Given the description of an element on the screen output the (x, y) to click on. 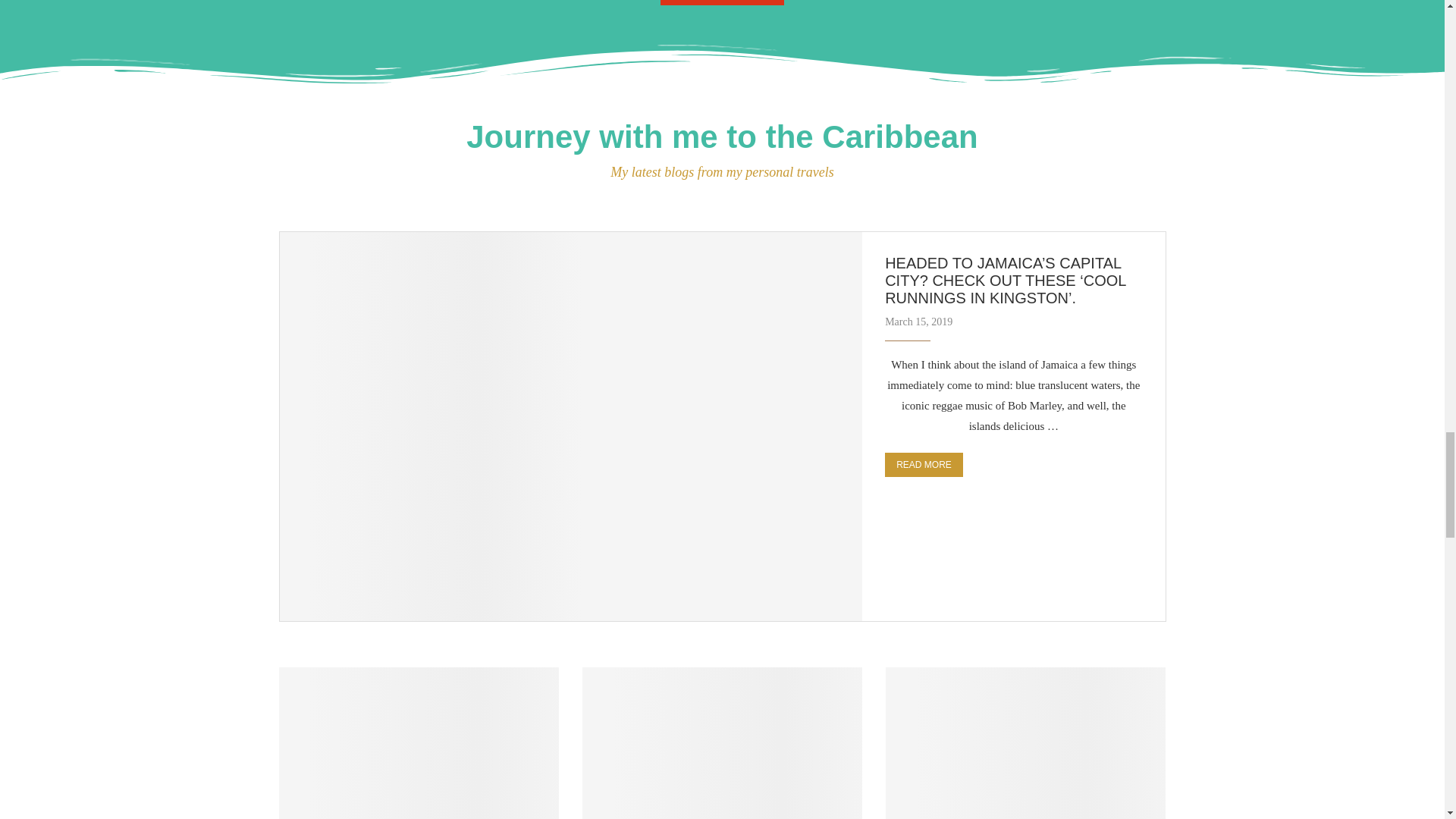
My recent visit to Cuba; what to know before you go. (722, 743)
Cuba is calling. Here why you should answer the call. (419, 743)
Video: Ricky Martin takes over Moon Palace in Cancun. (1025, 743)
